Given the description of an element on the screen output the (x, y) to click on. 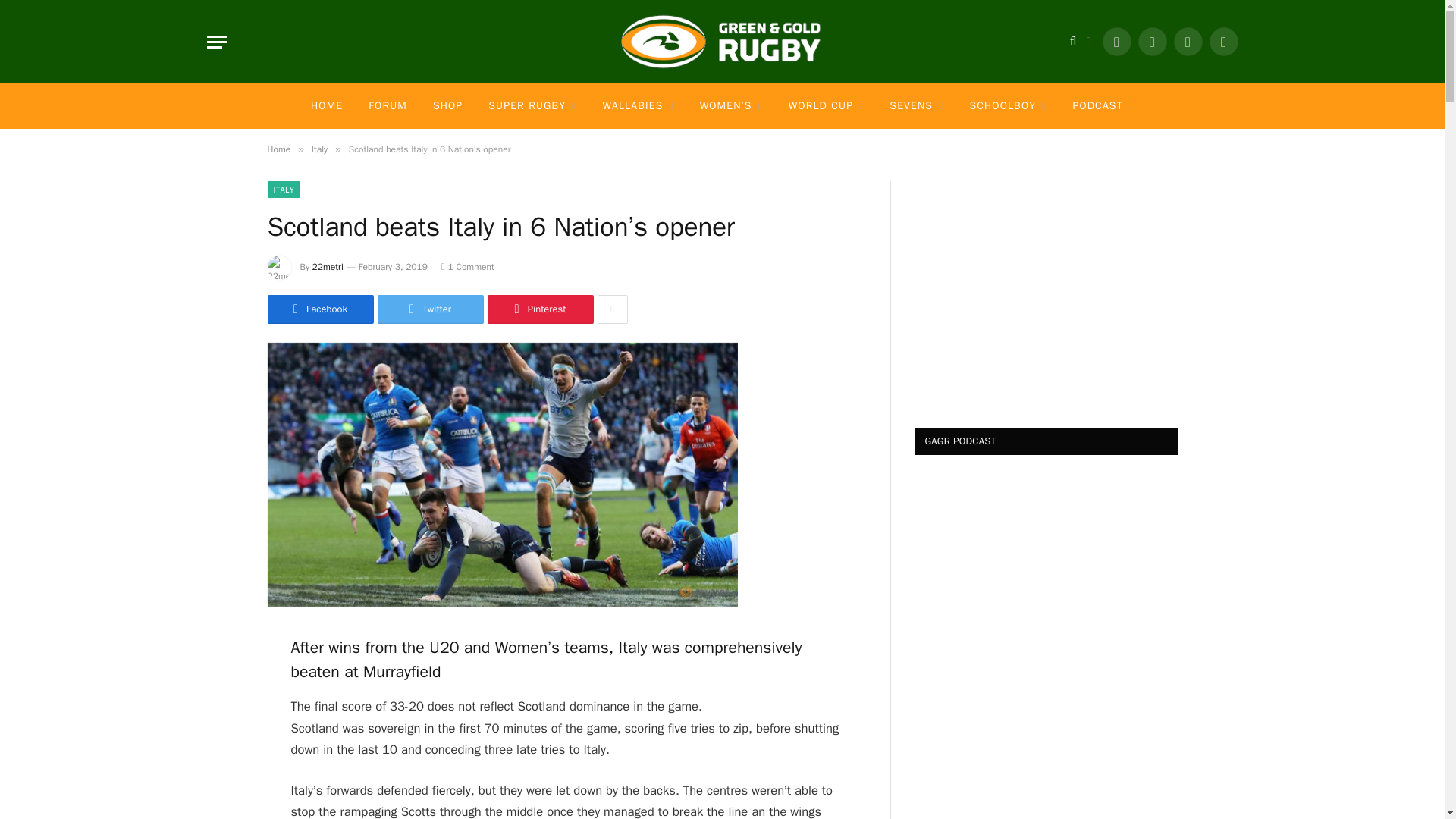
Search (1073, 41)
View Cart (1088, 42)
